Given the description of an element on the screen output the (x, y) to click on. 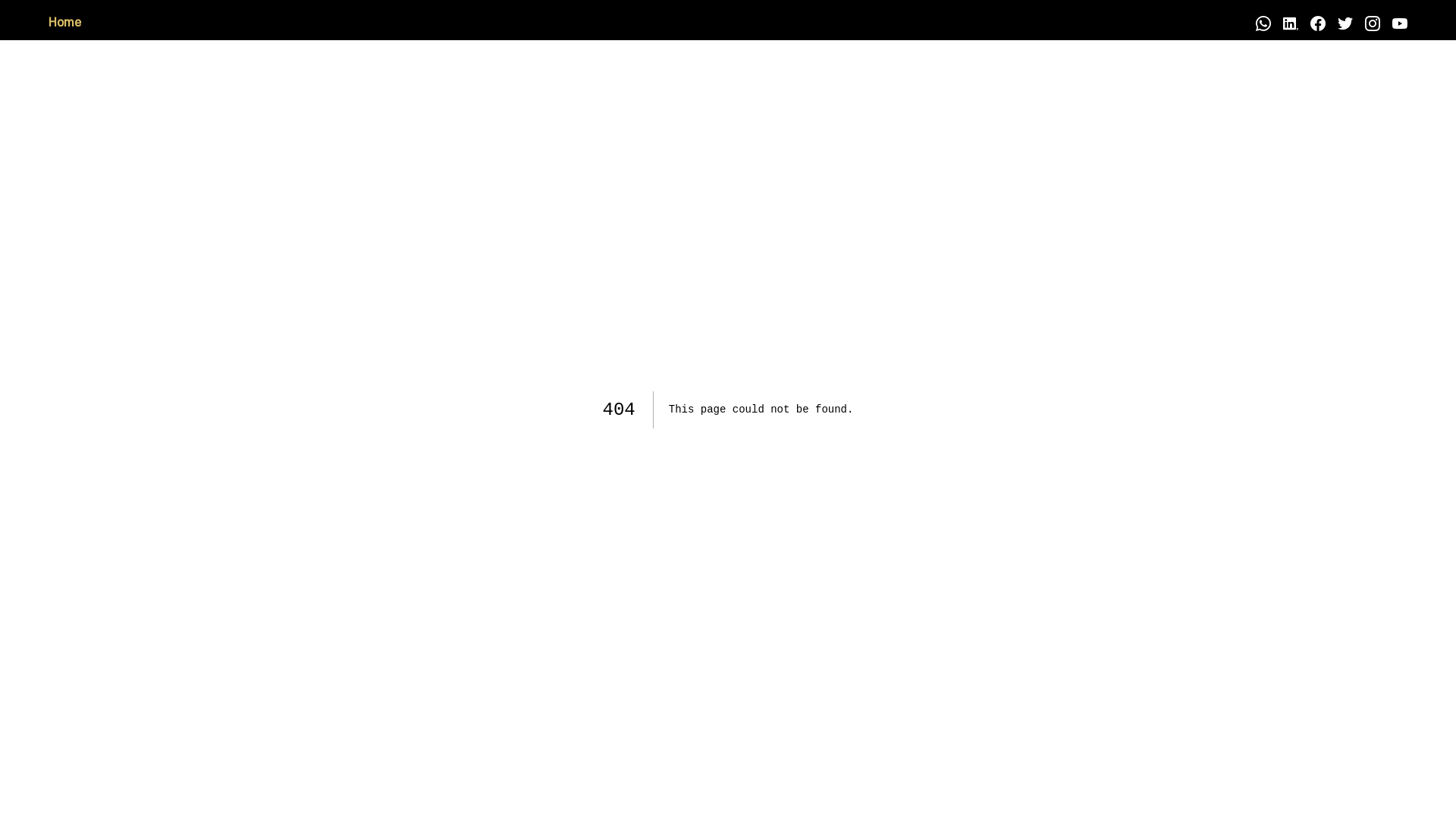
Disclaimer Element type: text (134, 23)
Home Element type: text (64, 23)
